Given the description of an element on the screen output the (x, y) to click on. 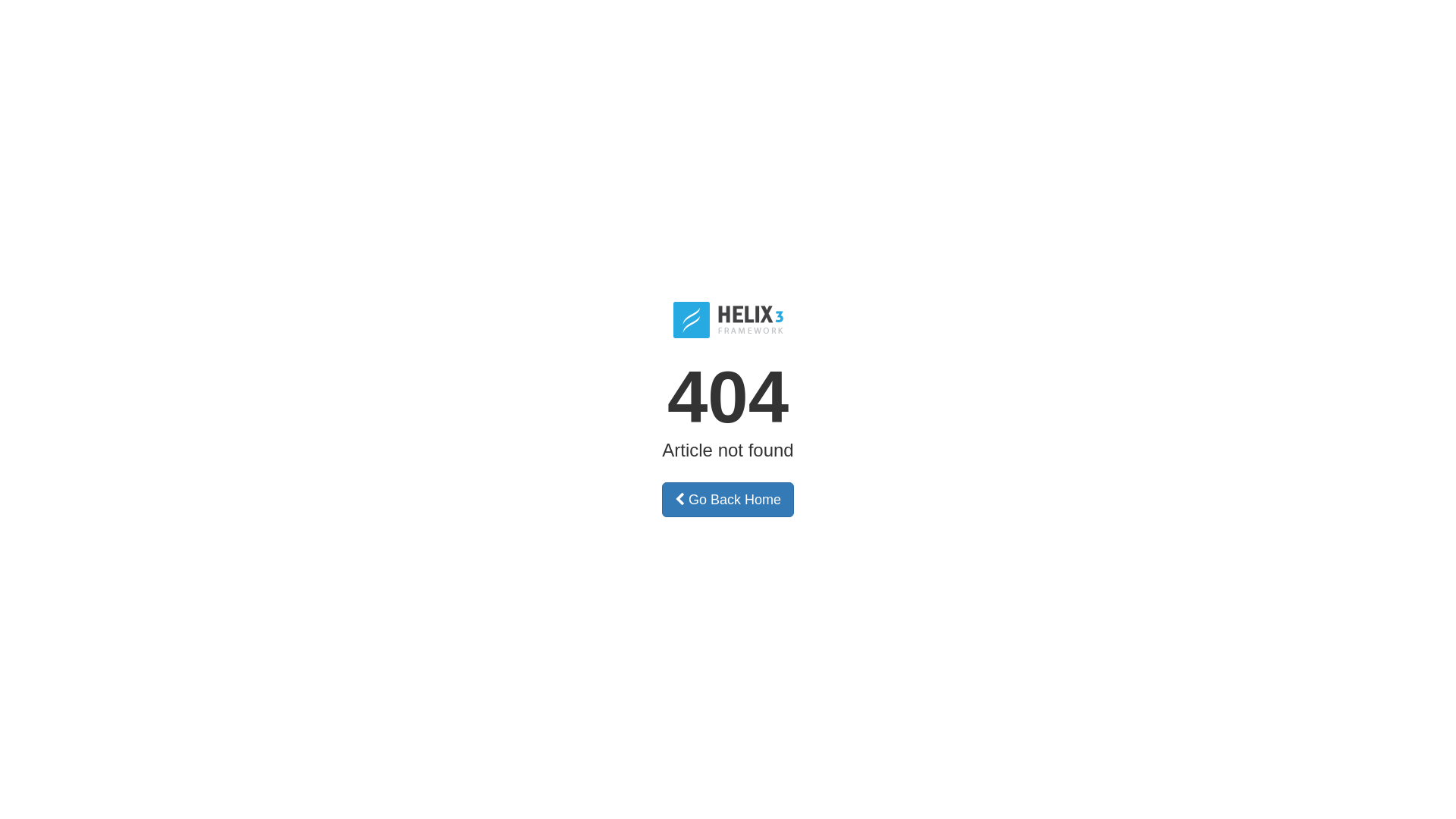
Go Back Home Element type: text (727, 499)
